Given the description of an element on the screen output the (x, y) to click on. 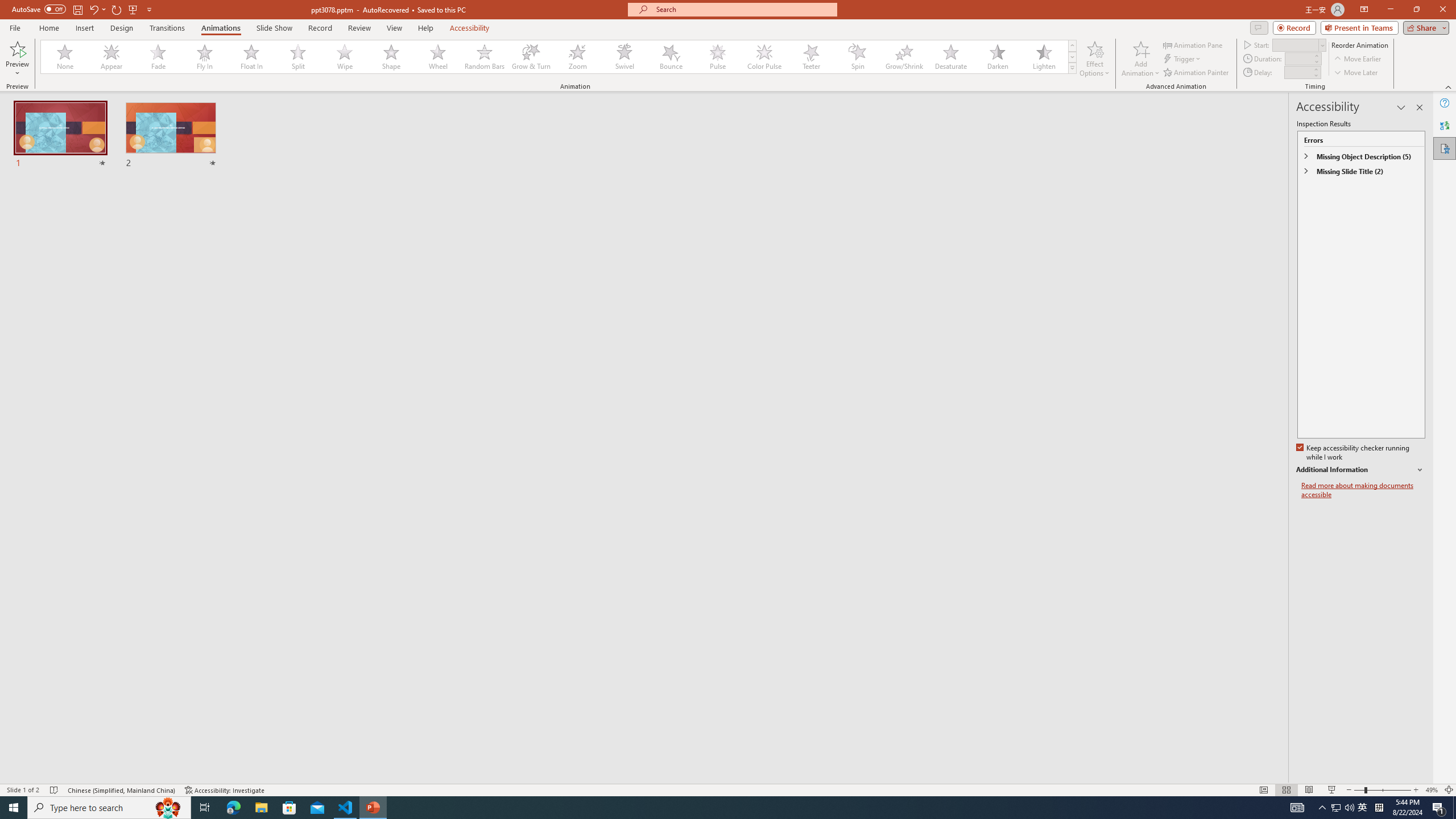
Animation Painter (1196, 72)
Animation Duration (1298, 58)
Shape (391, 56)
Grow/Shrink (903, 56)
